Given the description of an element on the screen output the (x, y) to click on. 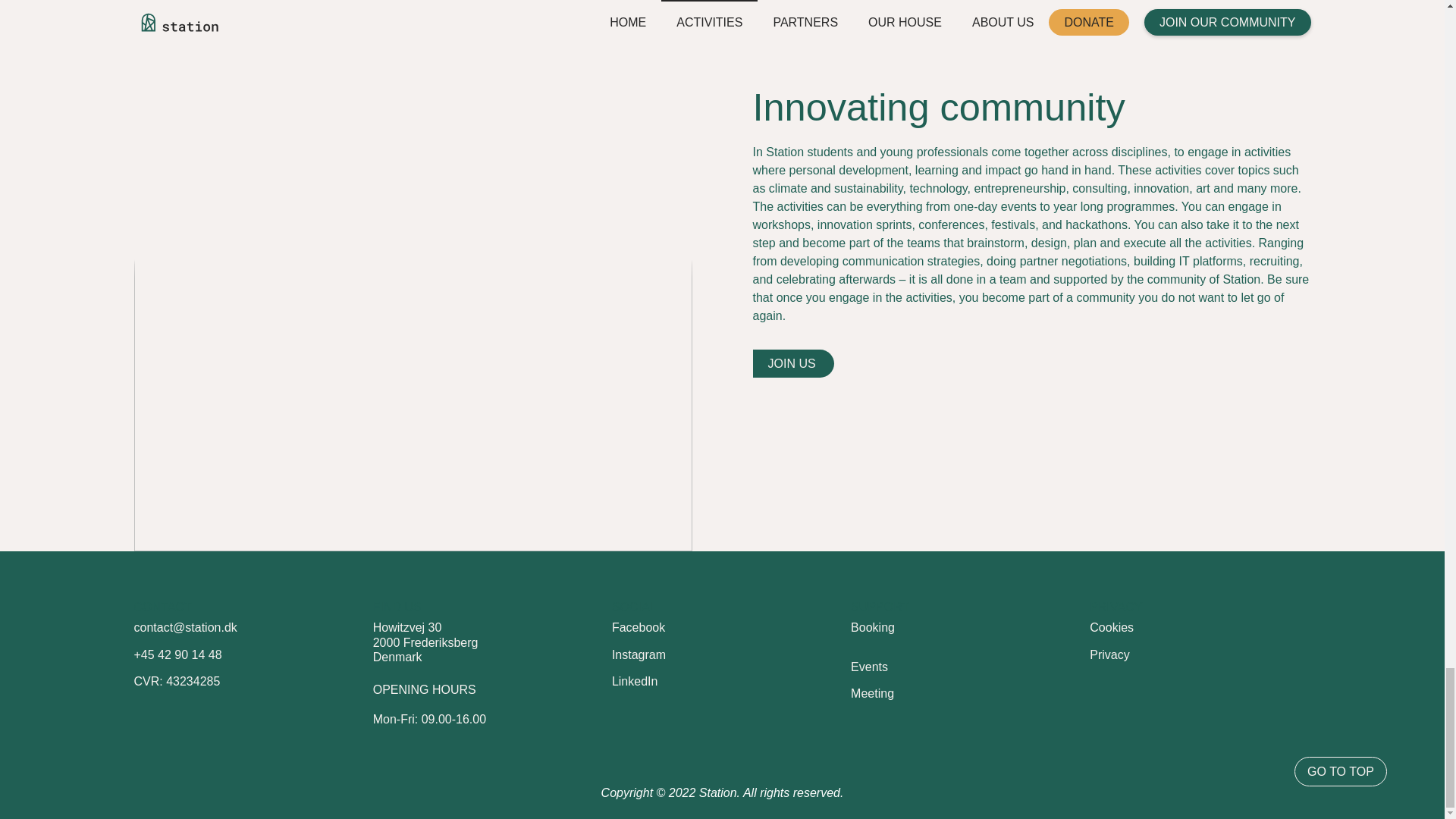
Facebook (638, 626)
Cookies (1111, 626)
Meeting (871, 693)
Events (869, 666)
Instagram (638, 654)
Booking (425, 641)
LinkedIn (872, 626)
JOIN US (634, 680)
Privacy (792, 363)
